Given the description of an element on the screen output the (x, y) to click on. 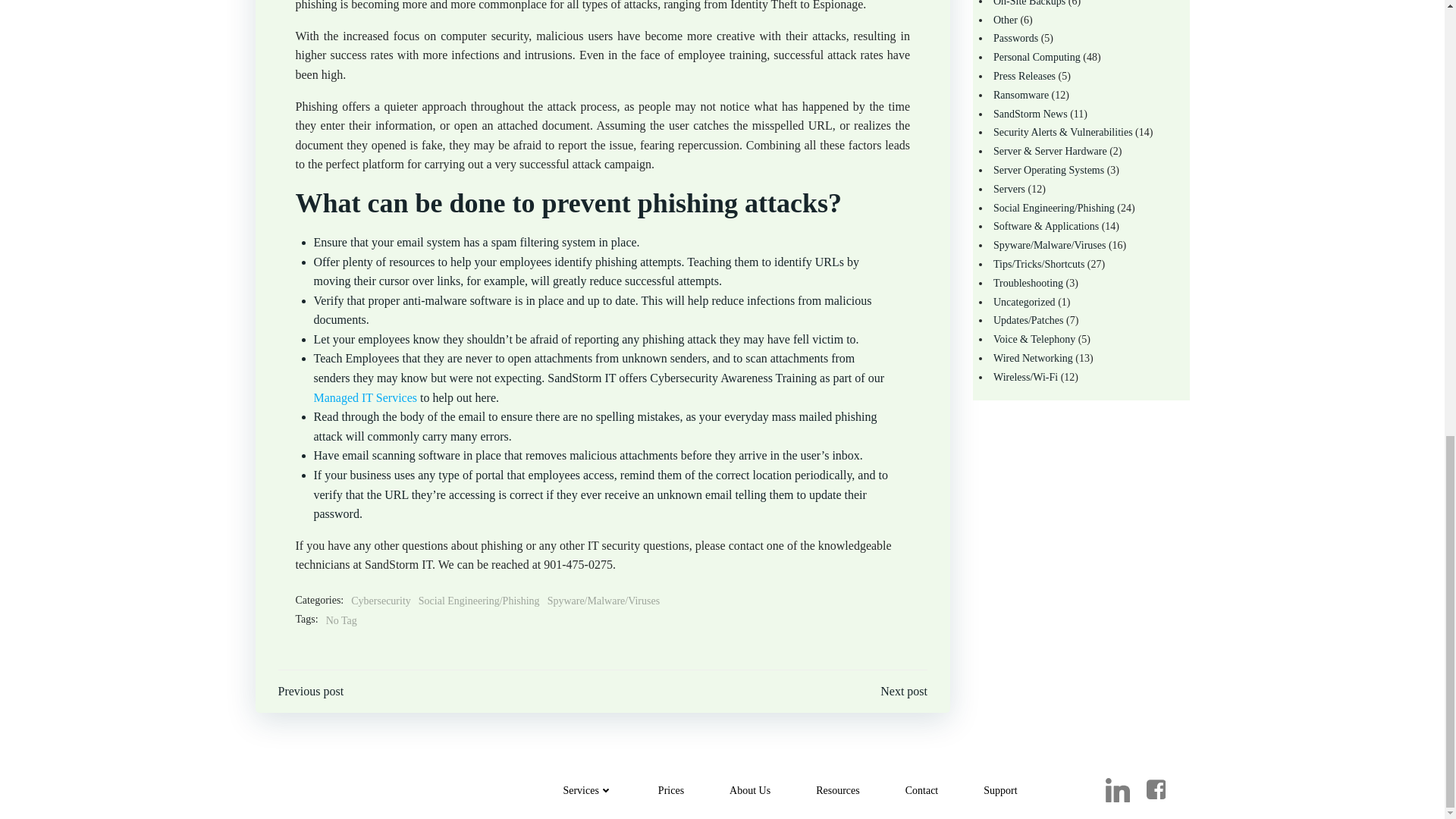
Previous post (310, 691)
Next post (903, 691)
Managed IT Services (365, 397)
Cybersecurity (380, 600)
